Given the description of an element on the screen output the (x, y) to click on. 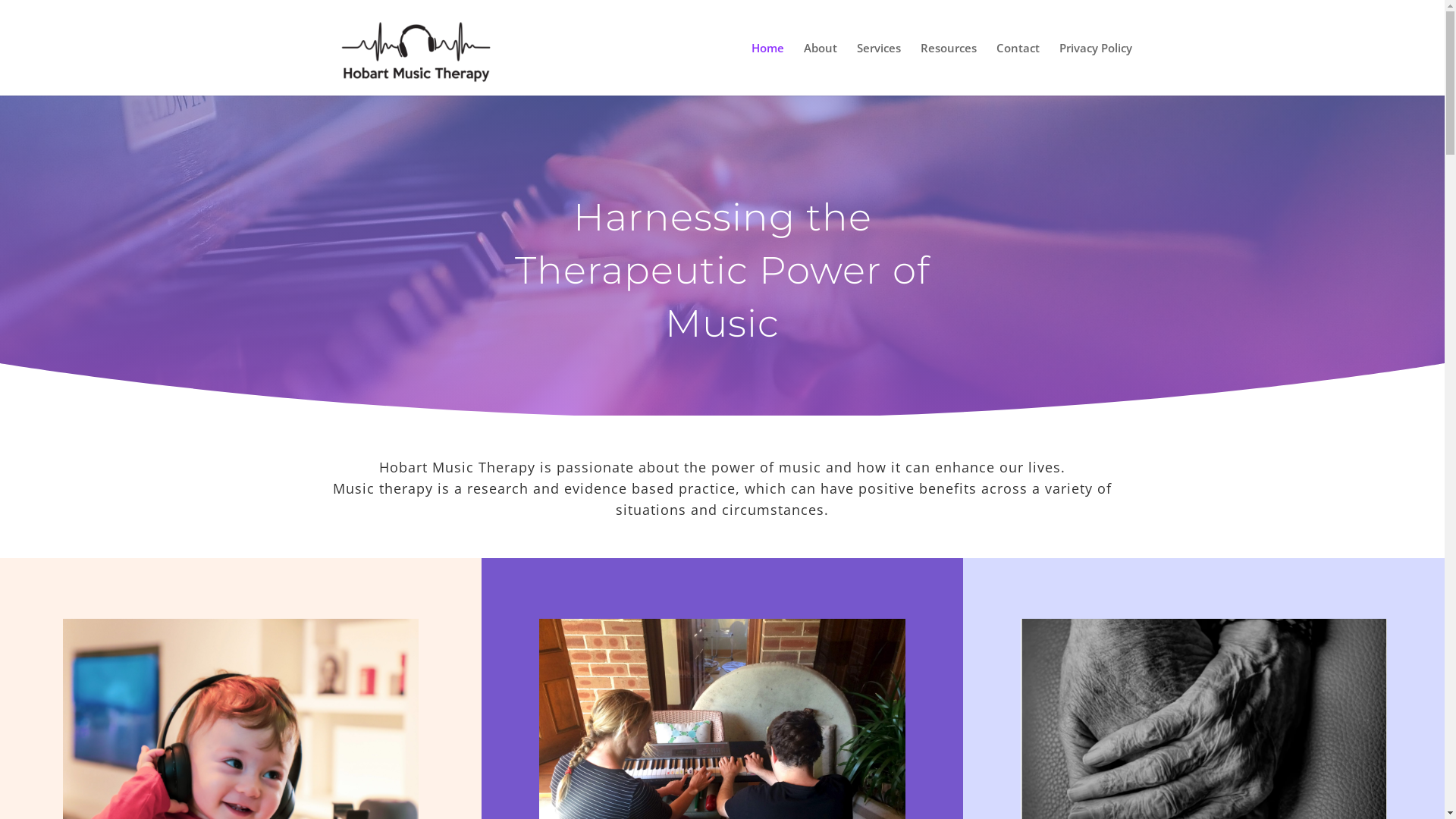
Contact Element type: text (1017, 68)
About Element type: text (820, 68)
Services Element type: text (878, 68)
Privacy Policy Element type: text (1094, 68)
Home Element type: text (766, 68)
Resources Element type: text (948, 68)
